Given the description of an element on the screen output the (x, y) to click on. 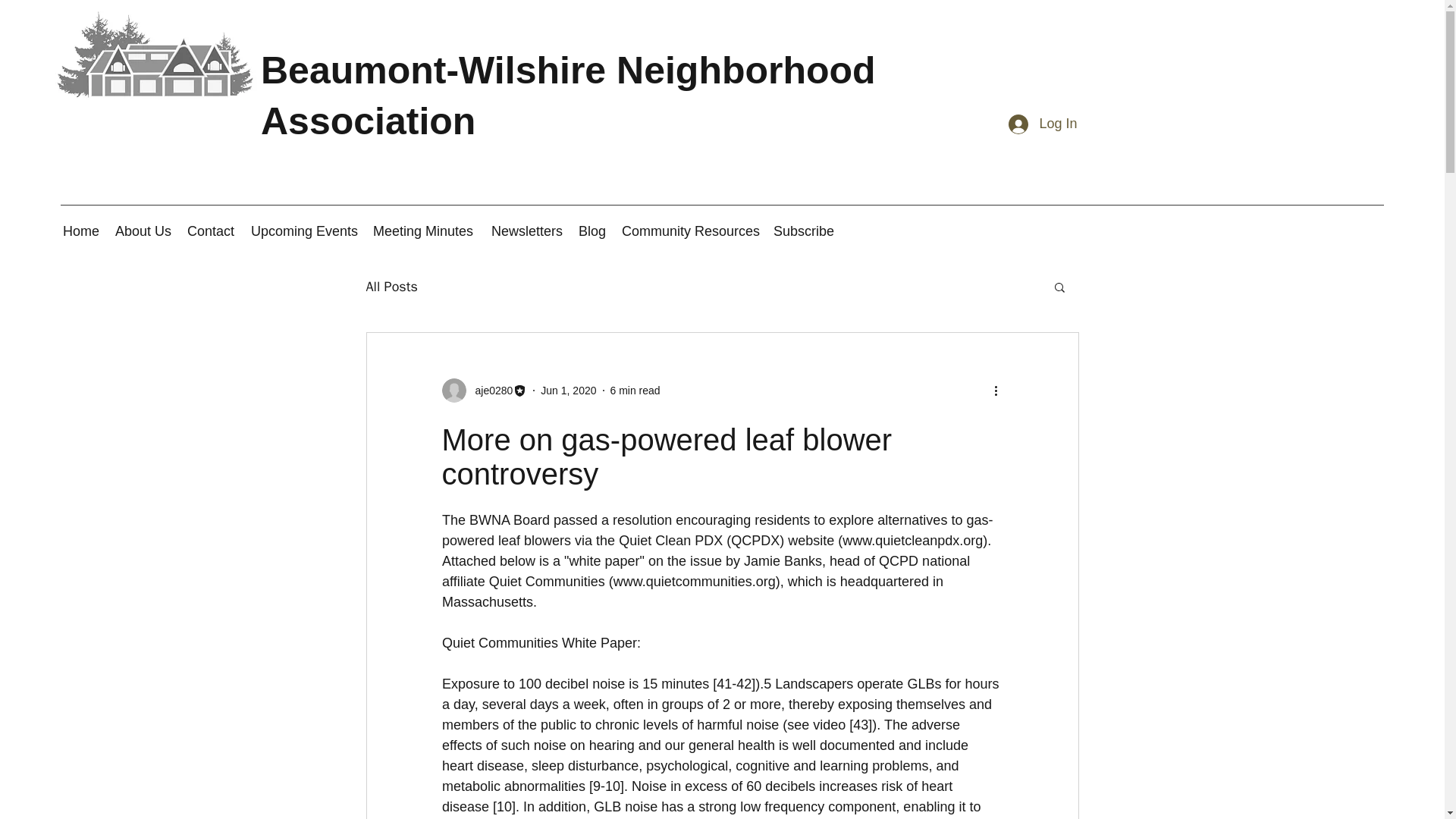
Beaumont-Wilshire Neighborhood Association (568, 95)
Newsletters (526, 231)
aje0280 (484, 390)
All Posts (390, 286)
Subscribe (803, 231)
Log In (1042, 123)
6 min read (634, 389)
Upcoming Events (304, 231)
Contact (211, 231)
About Us (143, 231)
